Given the description of an element on the screen output the (x, y) to click on. 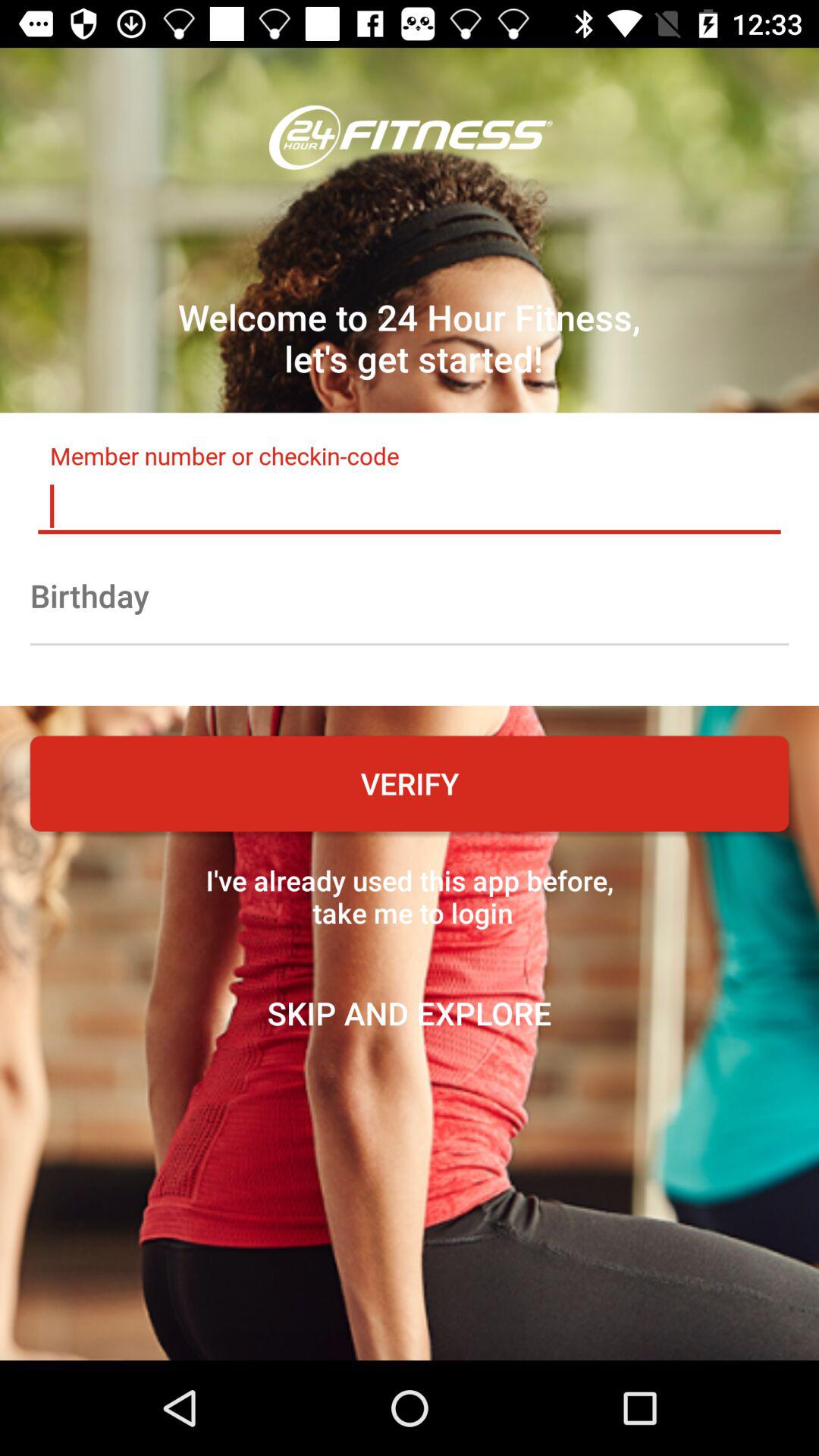
enter the member number (409, 505)
